Given the description of an element on the screen output the (x, y) to click on. 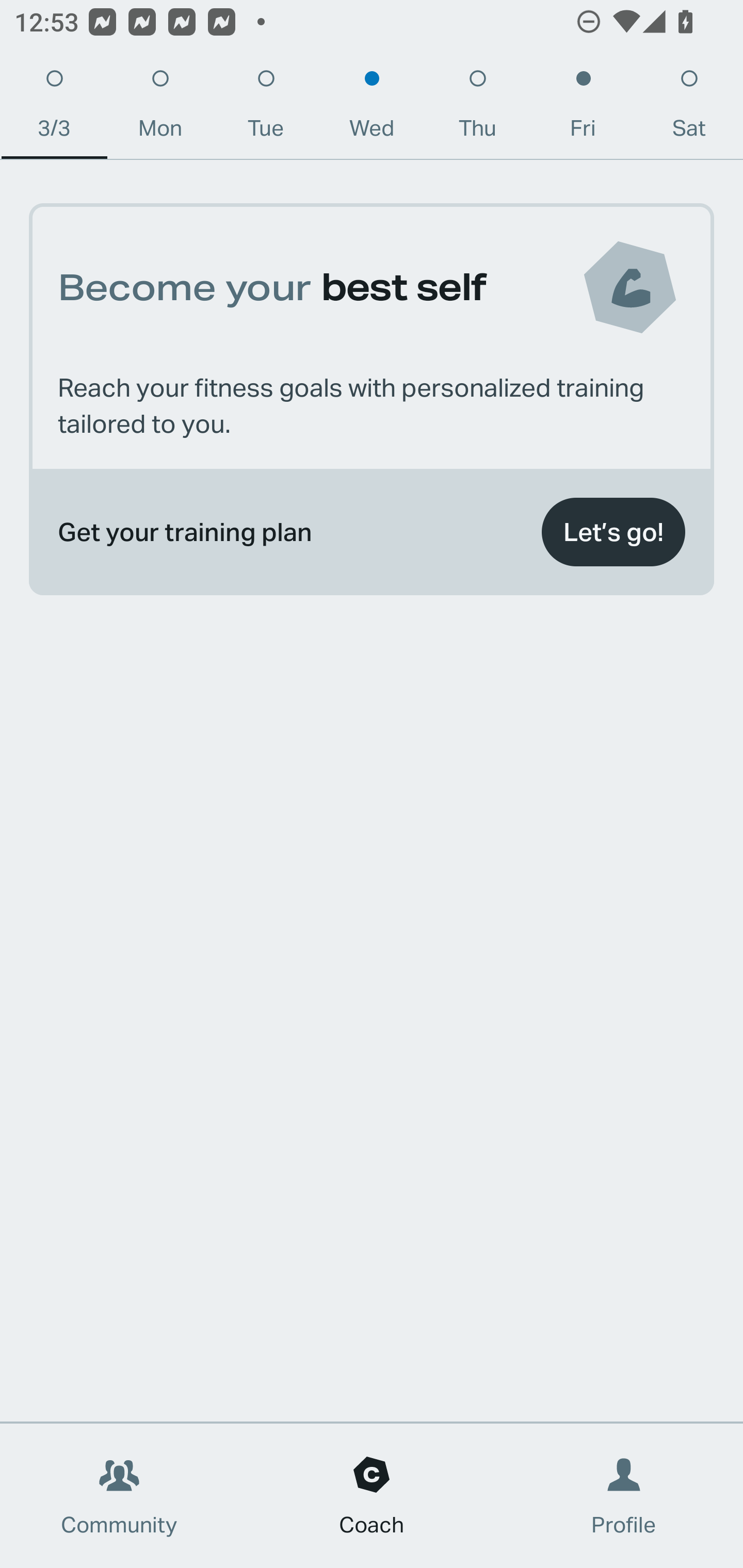
3/3 (53, 108)
Mon (159, 108)
Tue (265, 108)
Wed (371, 108)
Thu (477, 108)
Fri (583, 108)
Sat (689, 108)
Let’s go! (613, 532)
Community (119, 1495)
Profile (624, 1495)
